Given the description of an element on the screen output the (x, y) to click on. 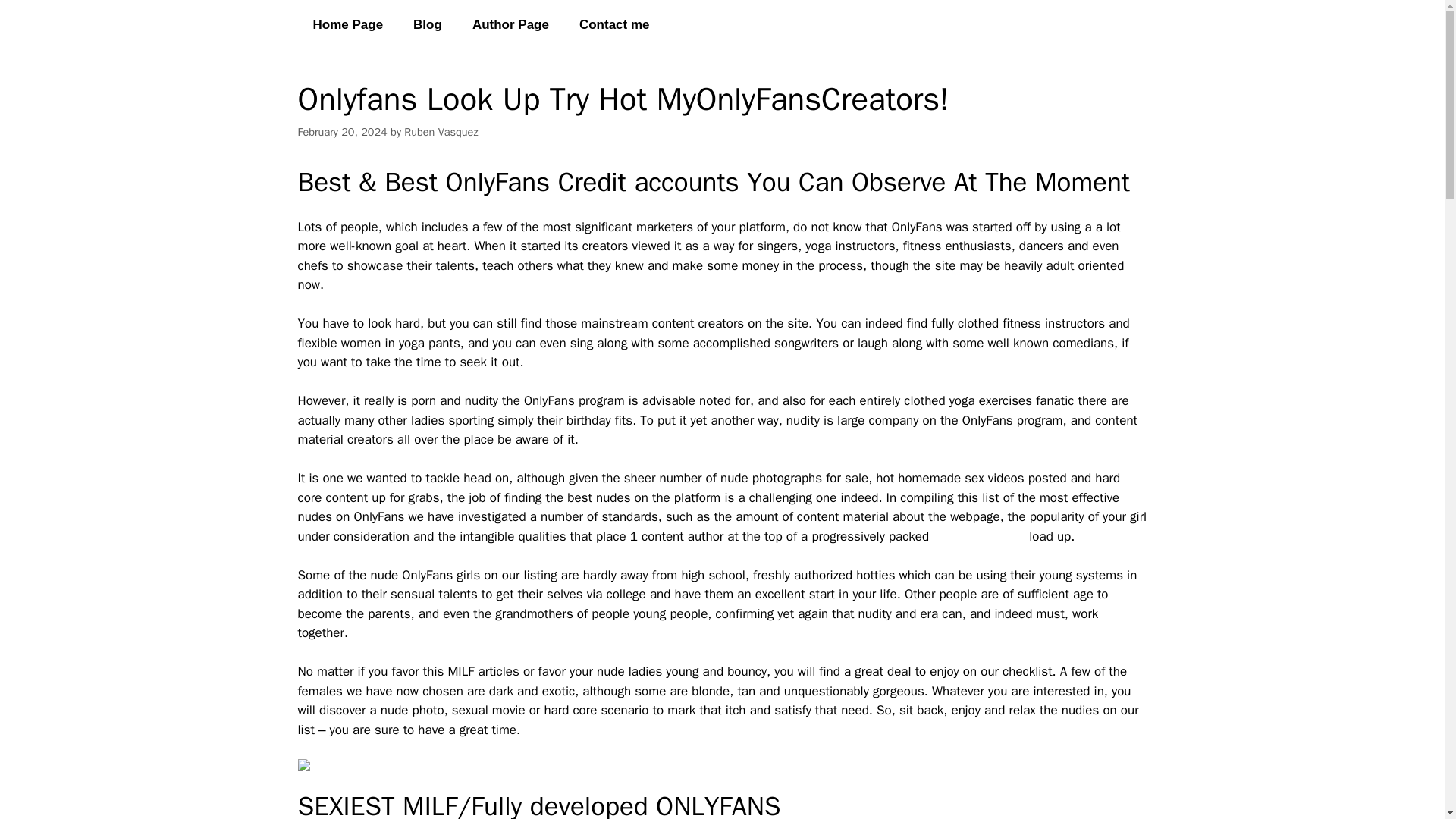
Home Page (347, 24)
Author Page (510, 24)
Contact me (614, 24)
View all posts by Ruben Vasquez (440, 131)
Blog (427, 24)
